Given the description of an element on the screen output the (x, y) to click on. 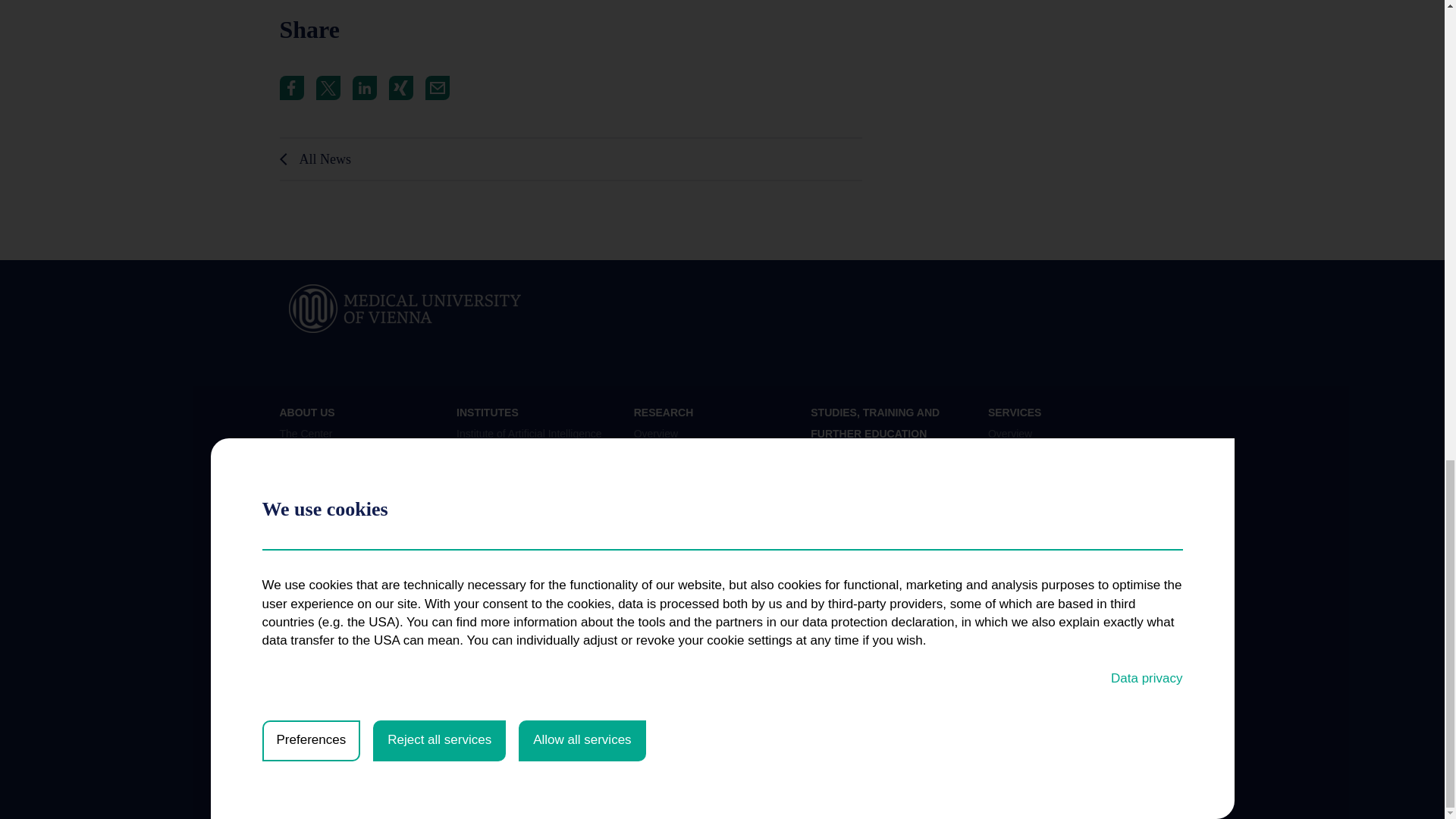
Open Positions (314, 507)
Staff Members (313, 482)
Medical University of Vienna (404, 308)
News (292, 458)
Institute of Artificial Intelligence (529, 433)
The Center (305, 433)
Medical University of Vienna (404, 308)
